Given the description of an element on the screen output the (x, y) to click on. 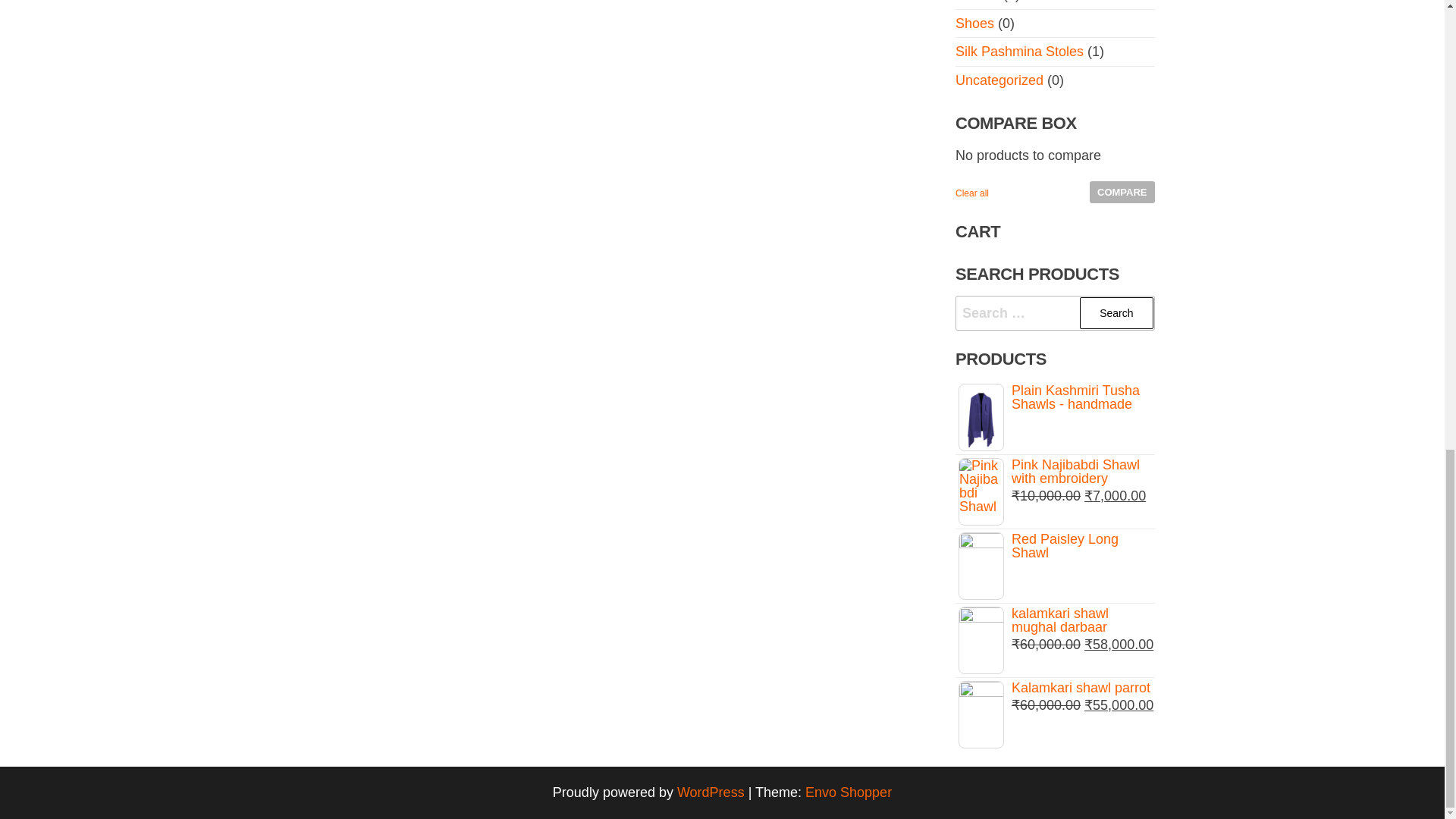
Search (1116, 313)
Search (1116, 313)
